Given the description of an element on the screen output the (x, y) to click on. 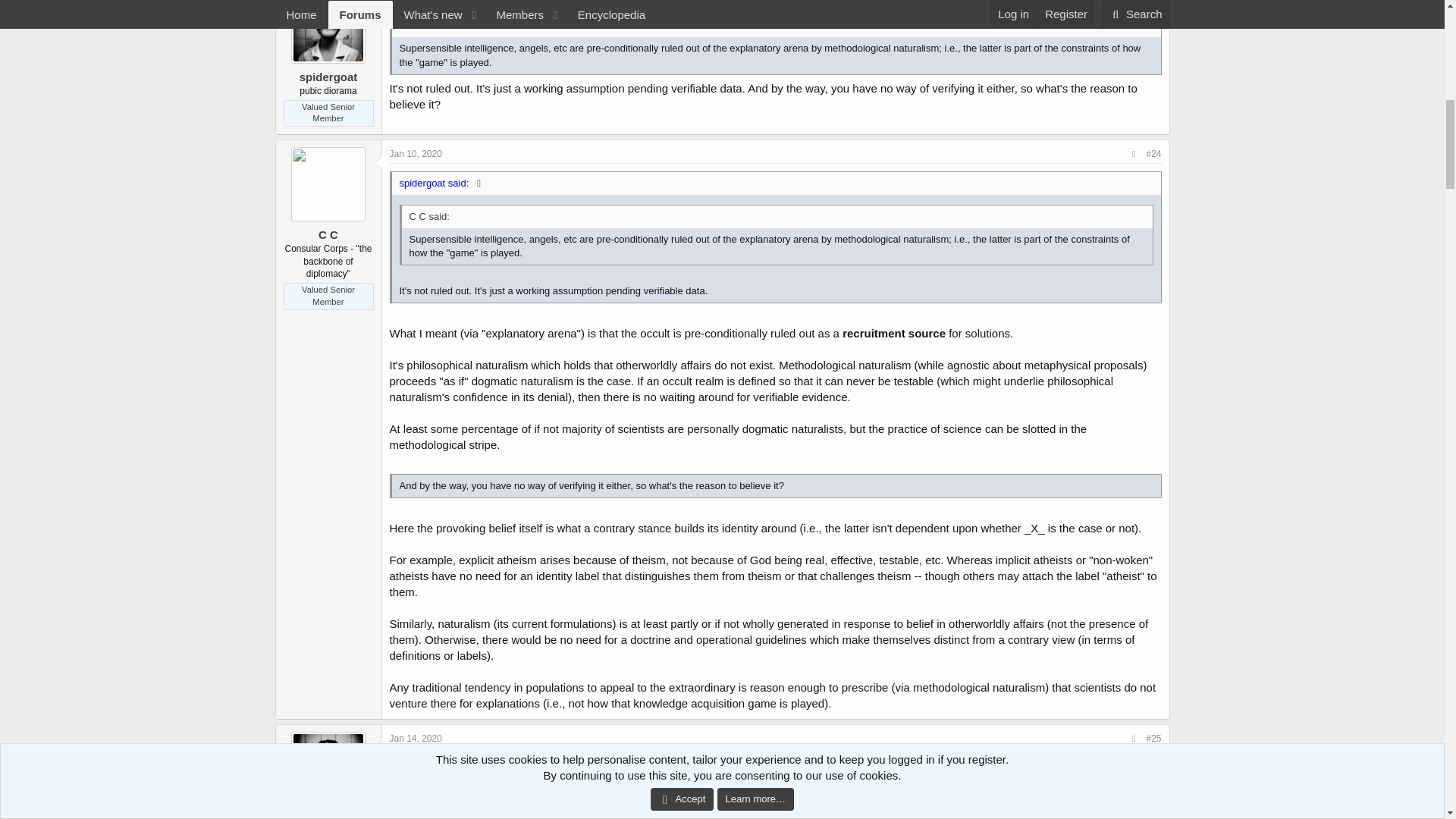
Jan 14, 2020 at 12:06 AM (416, 738)
Jan 9, 2020 at 7:41 PM (414, 0)
Jan 10, 2020 at 1:55 AM (416, 153)
